Given the description of an element on the screen output the (x, y) to click on. 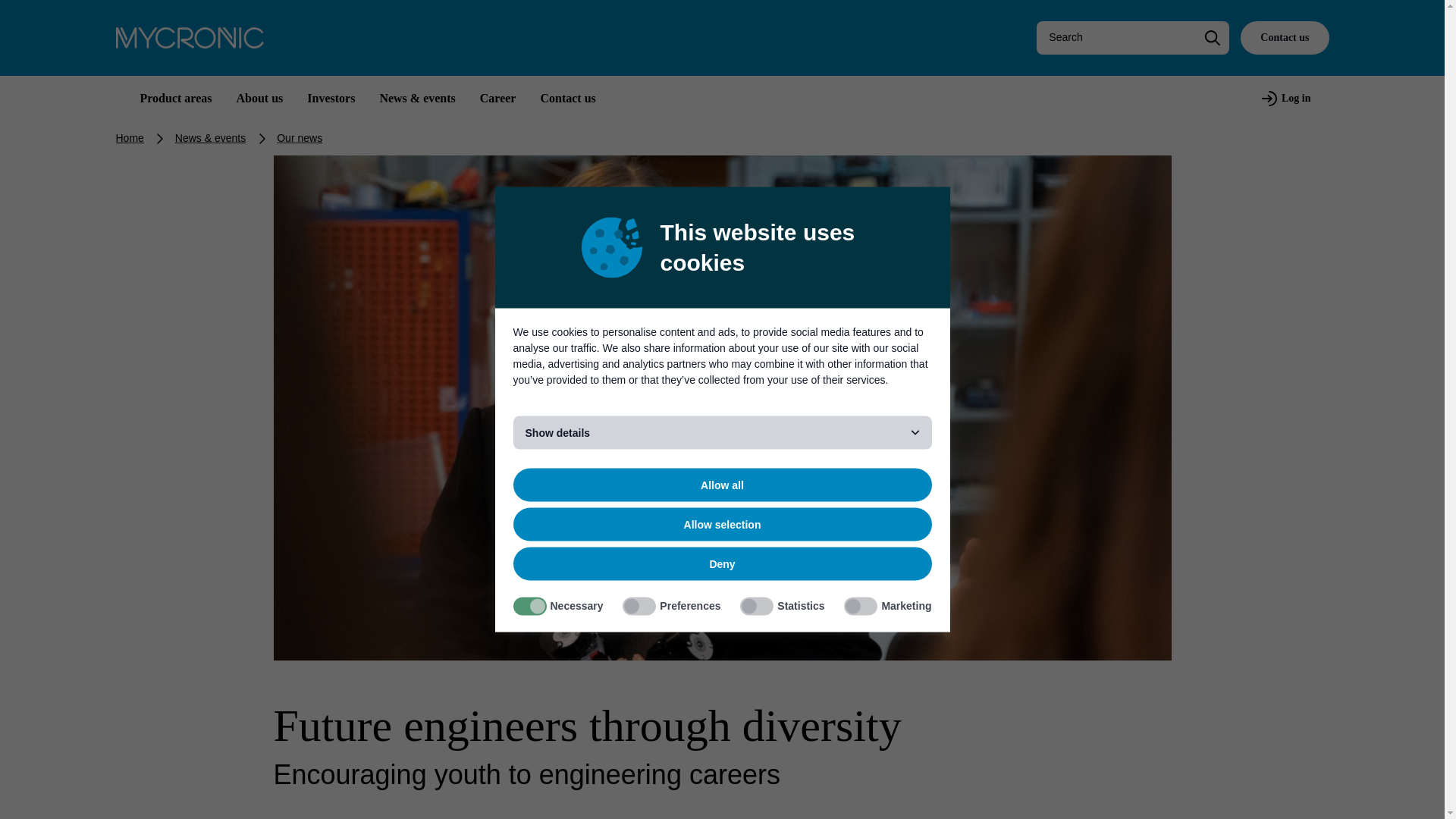
Deny (721, 563)
Allow selection (721, 524)
Contact us (1283, 37)
Allow all (721, 485)
